Given the description of an element on the screen output the (x, y) to click on. 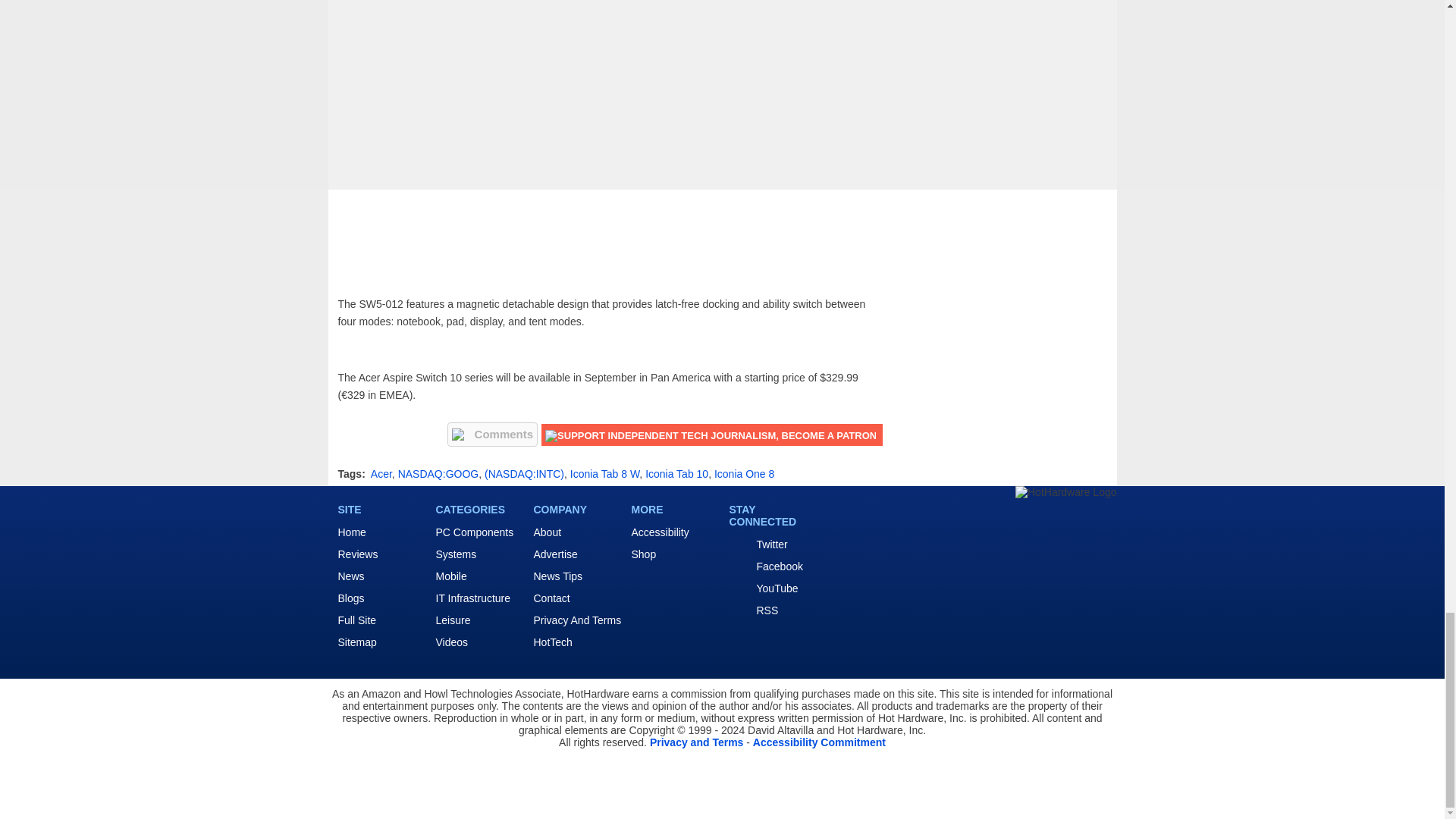
Comments (492, 434)
